Given the description of an element on the screen output the (x, y) to click on. 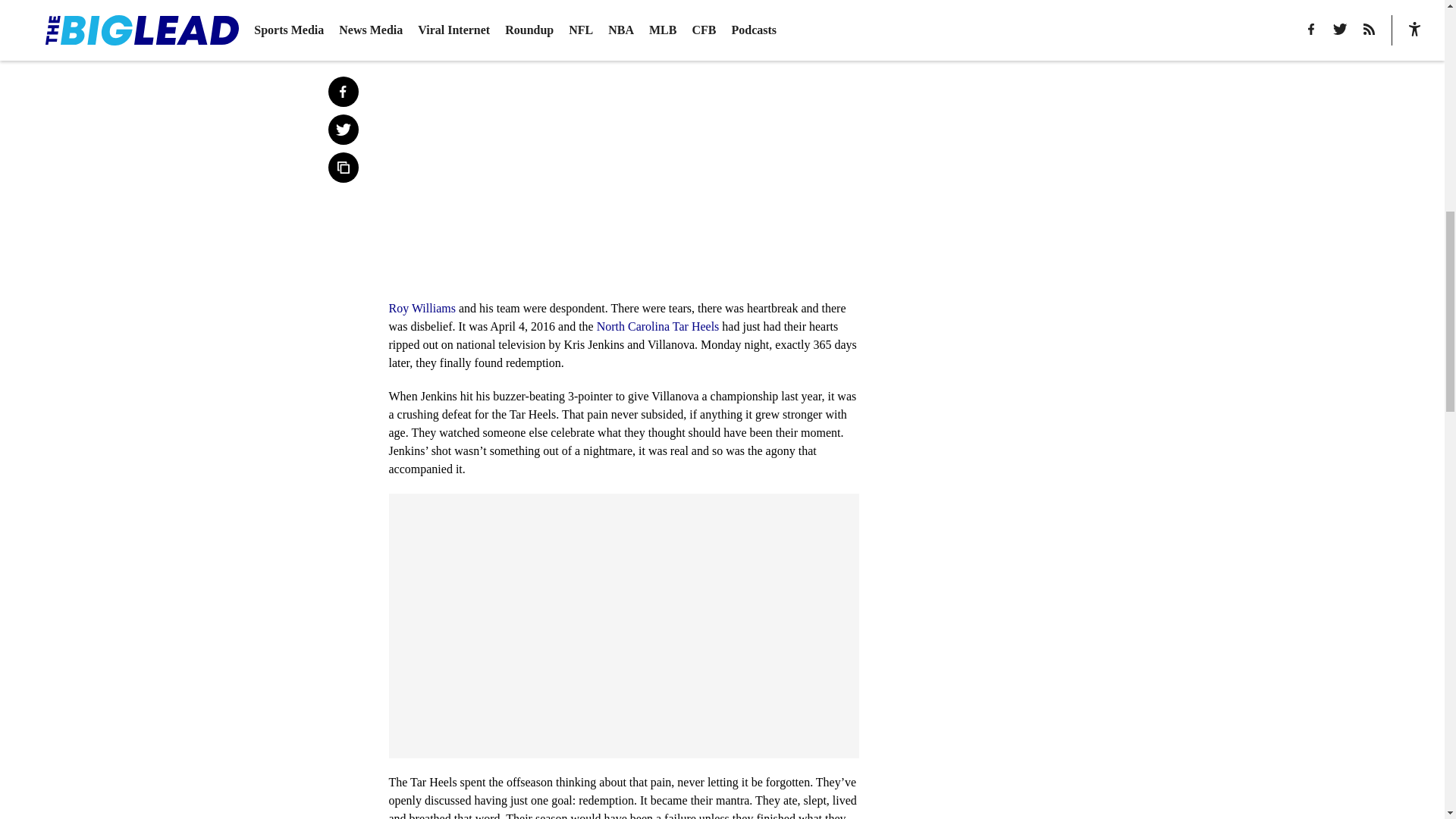
Roy Williams (421, 308)
North Carolina Tar Heels (657, 326)
